Given the description of an element on the screen output the (x, y) to click on. 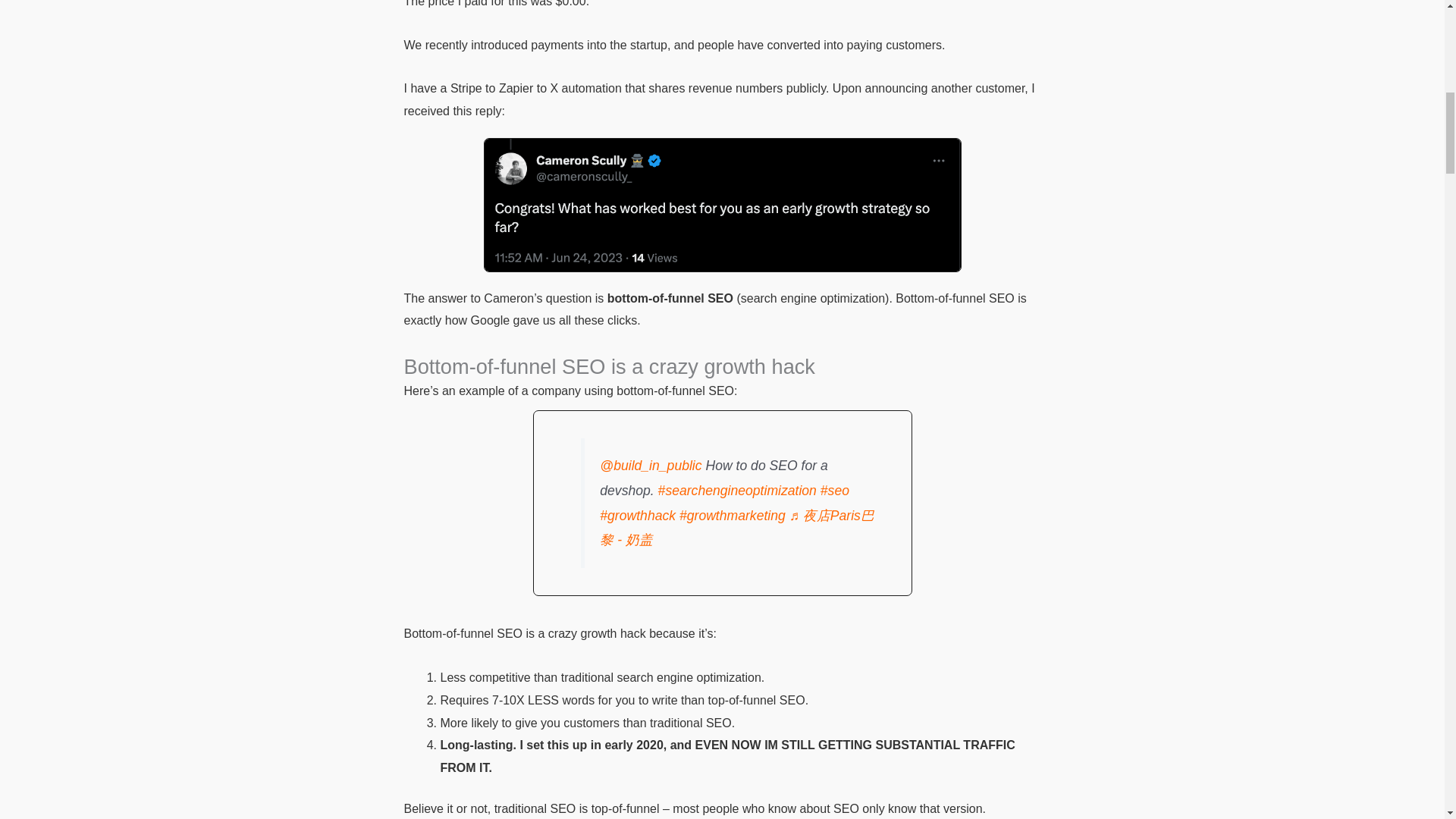
growthmarketing (732, 515)
searchengineoptimization (737, 490)
seo (834, 490)
growthhack (637, 515)
